Given the description of an element on the screen output the (x, y) to click on. 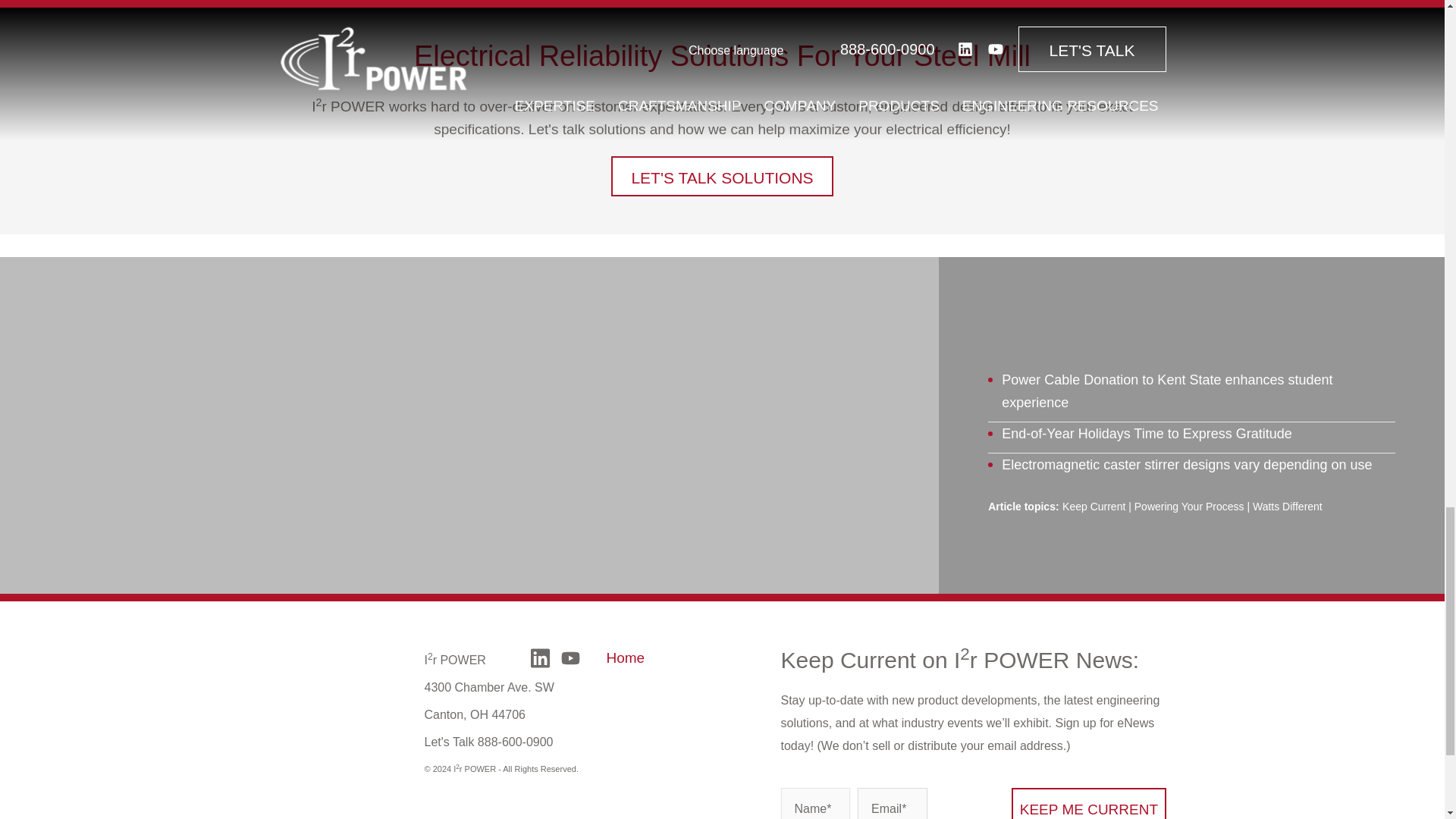
Footer Logos (339, 781)
Electromagnetic caster stirrer designs vary depending on use (1186, 464)
I2r POWER footer logo (340, 669)
Electrical Reliability Solutions For Your Steel Mill (721, 56)
End-of-Year Holidays Time to Express Gratitude (1146, 433)
Keep Me Current (1088, 803)
